Given the description of an element on the screen output the (x, y) to click on. 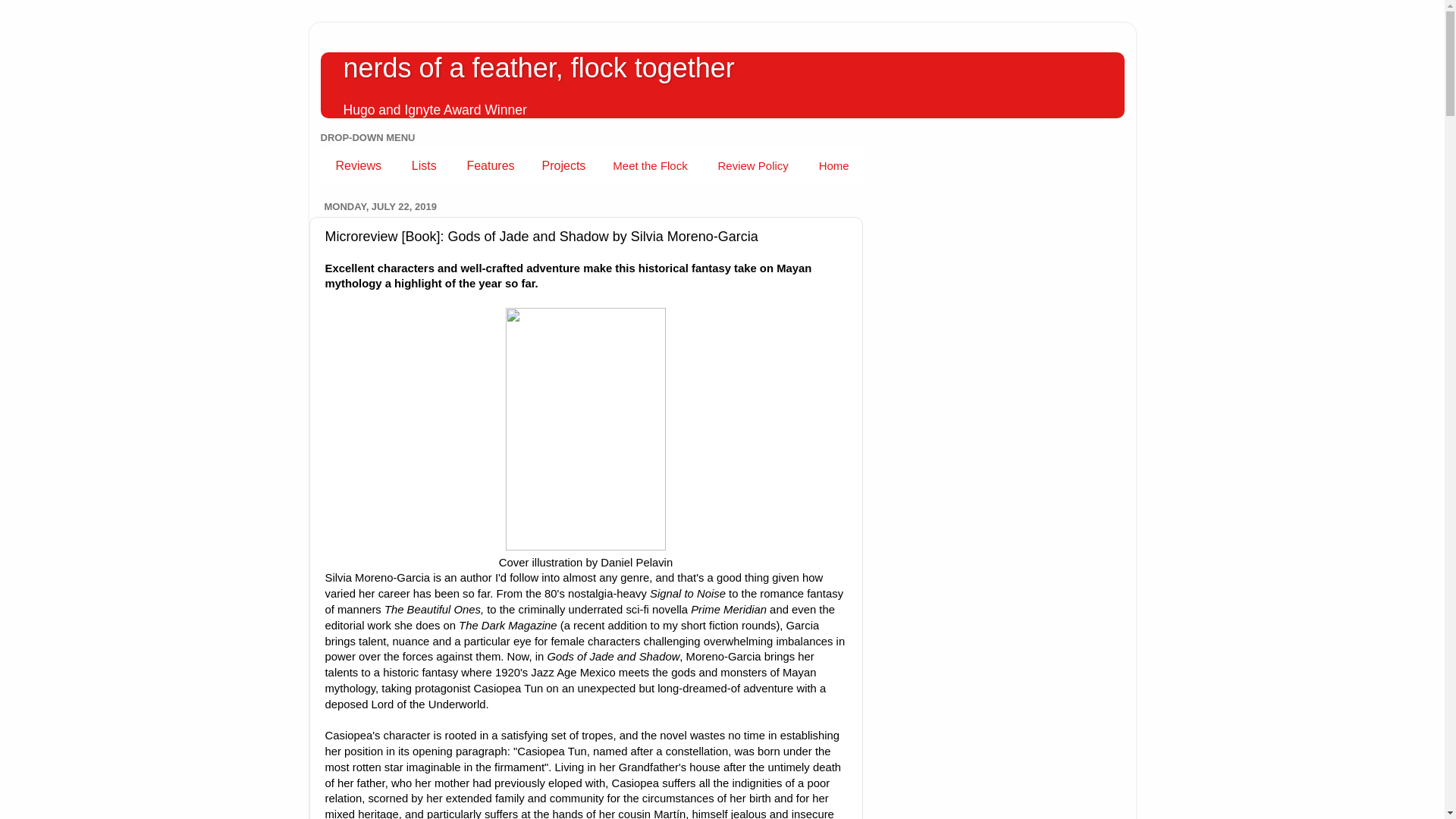
Review Policy (752, 164)
Meet the Flock (649, 164)
Home (833, 164)
nerds of a feather, flock together (537, 67)
